Given the description of an element on the screen output the (x, y) to click on. 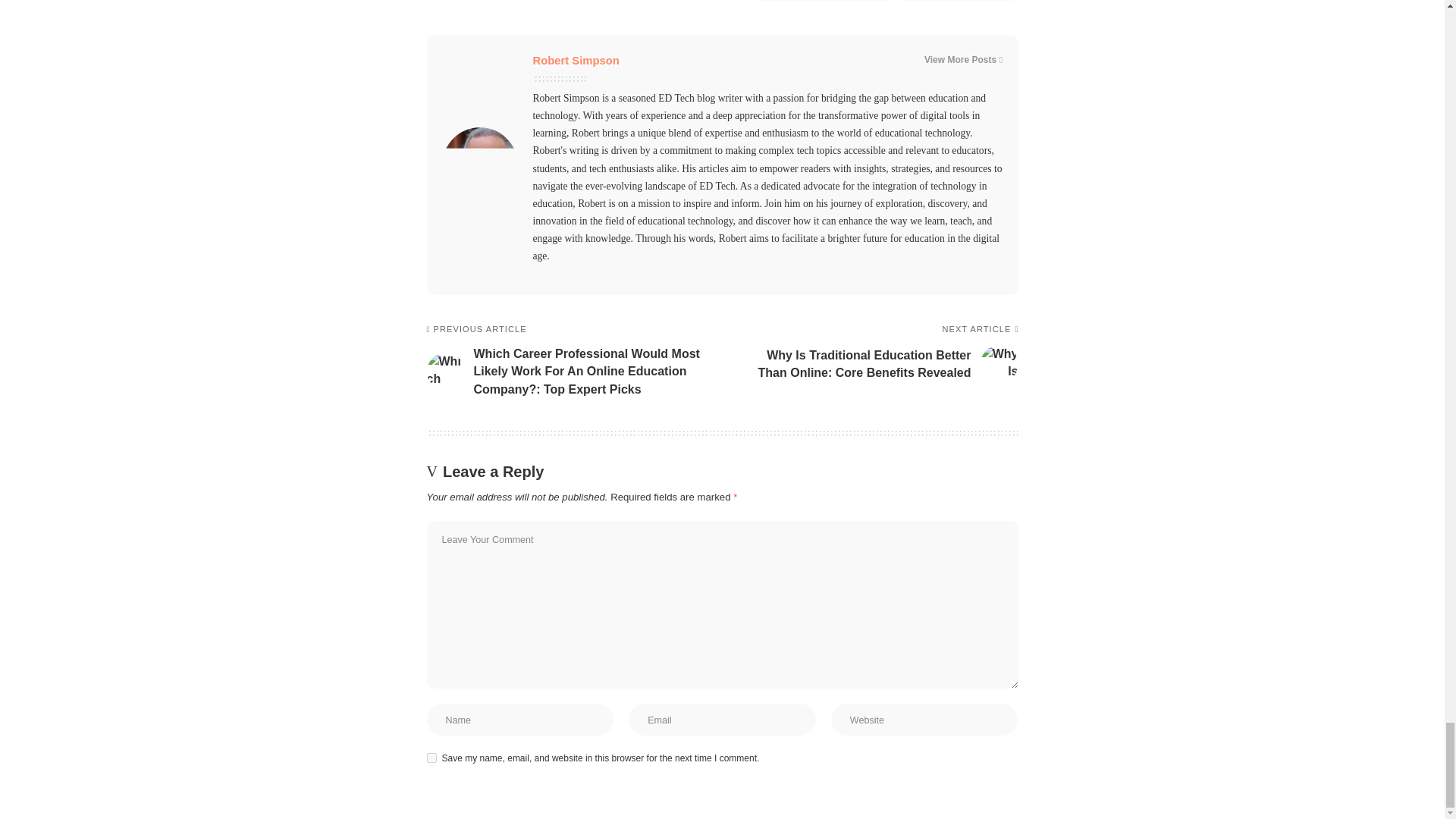
yes (430, 757)
